Given the description of an element on the screen output the (x, y) to click on. 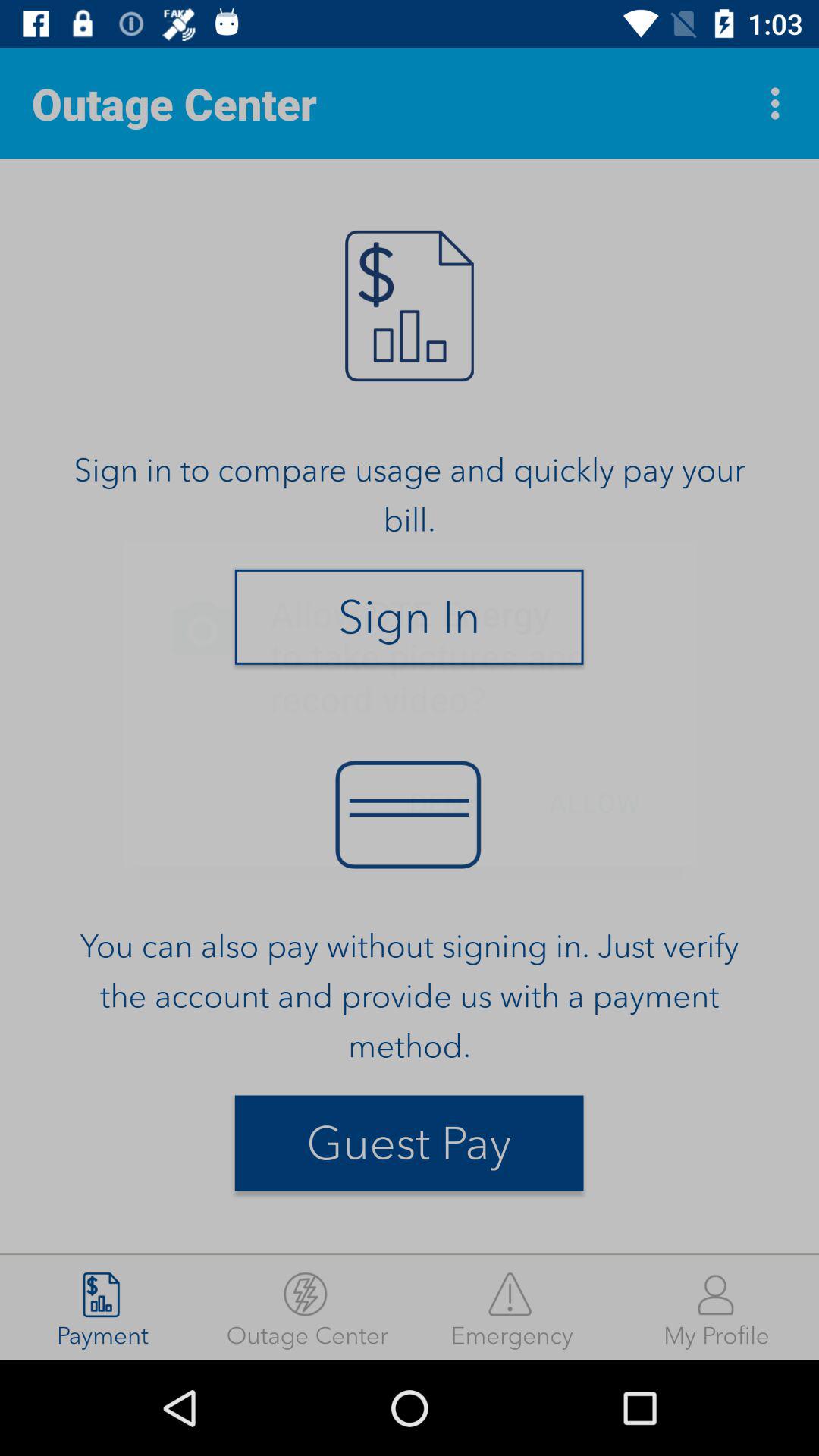
open the guest pay item (408, 1142)
